Given the description of an element on the screen output the (x, y) to click on. 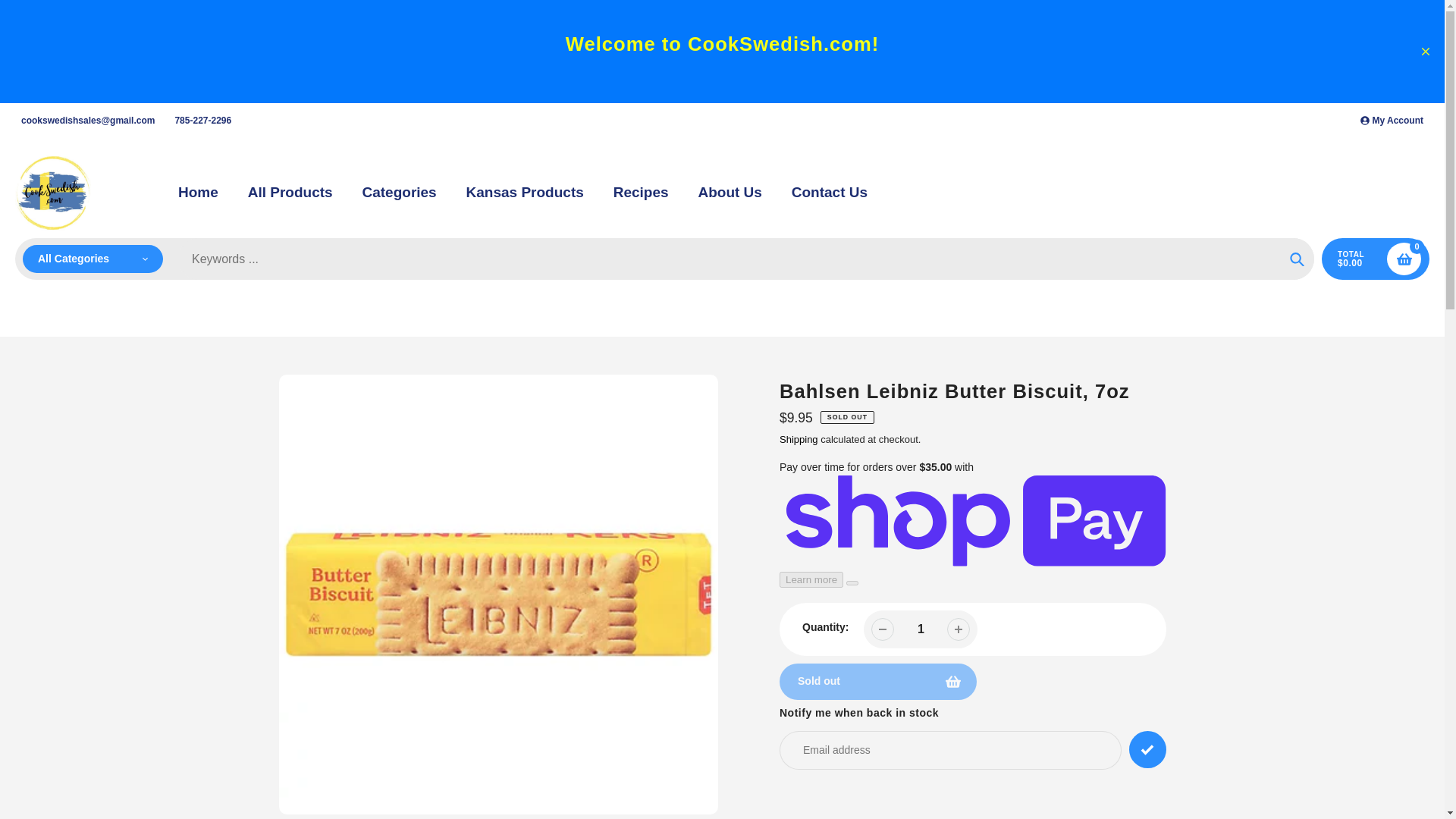
Categories (398, 192)
Kansas Products (524, 192)
All Categories (93, 258)
1 (920, 628)
Contact Us (829, 192)
Recipes (640, 192)
About Us (729, 192)
My Account (1391, 121)
Home (197, 192)
785-227-2296 (202, 121)
